Given the description of an element on the screen output the (x, y) to click on. 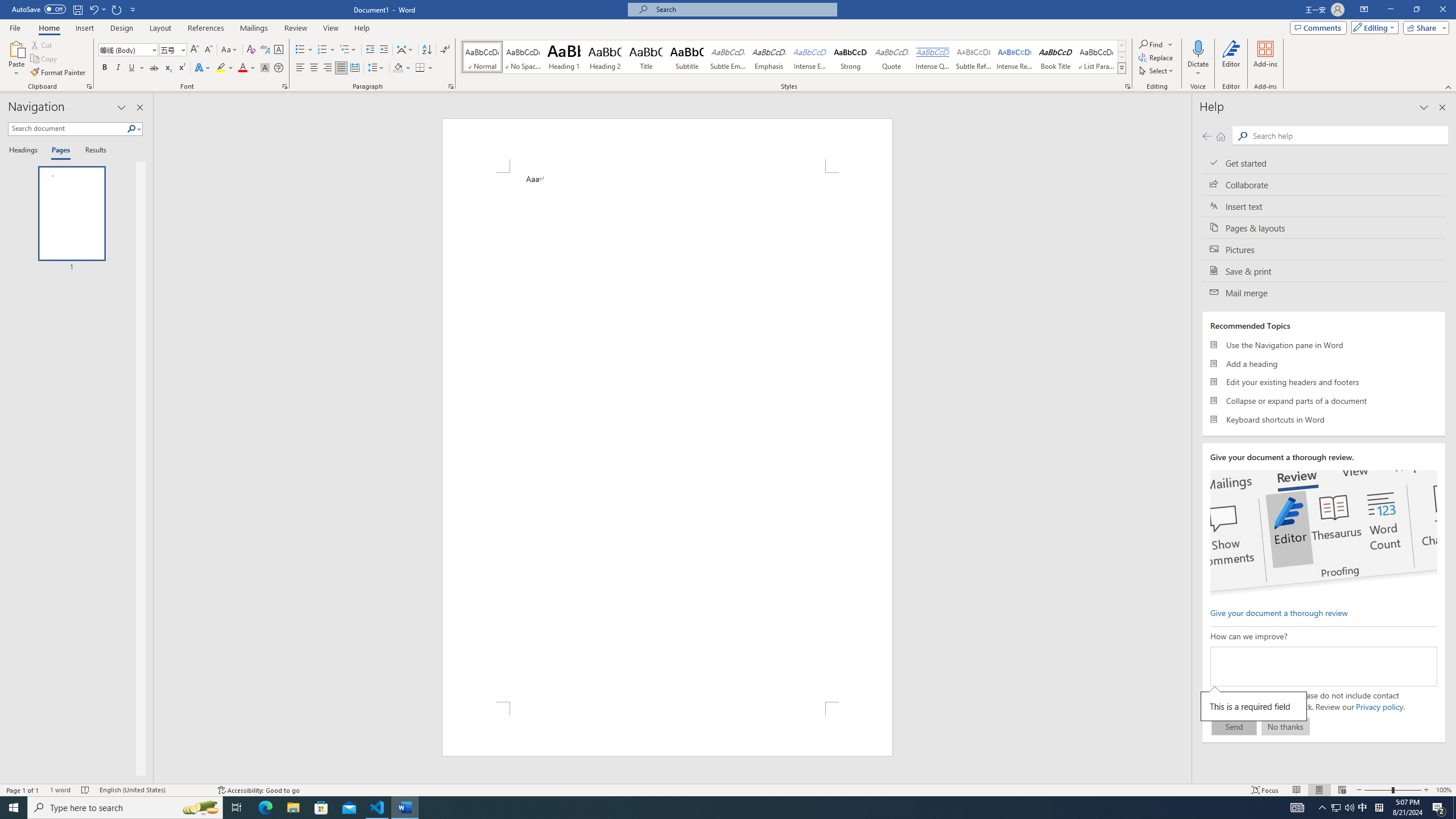
Undo Increase Indent (92, 9)
Previous page (1206, 136)
Intense Emphasis (809, 56)
Quote (891, 56)
